Given the description of an element on the screen output the (x, y) to click on. 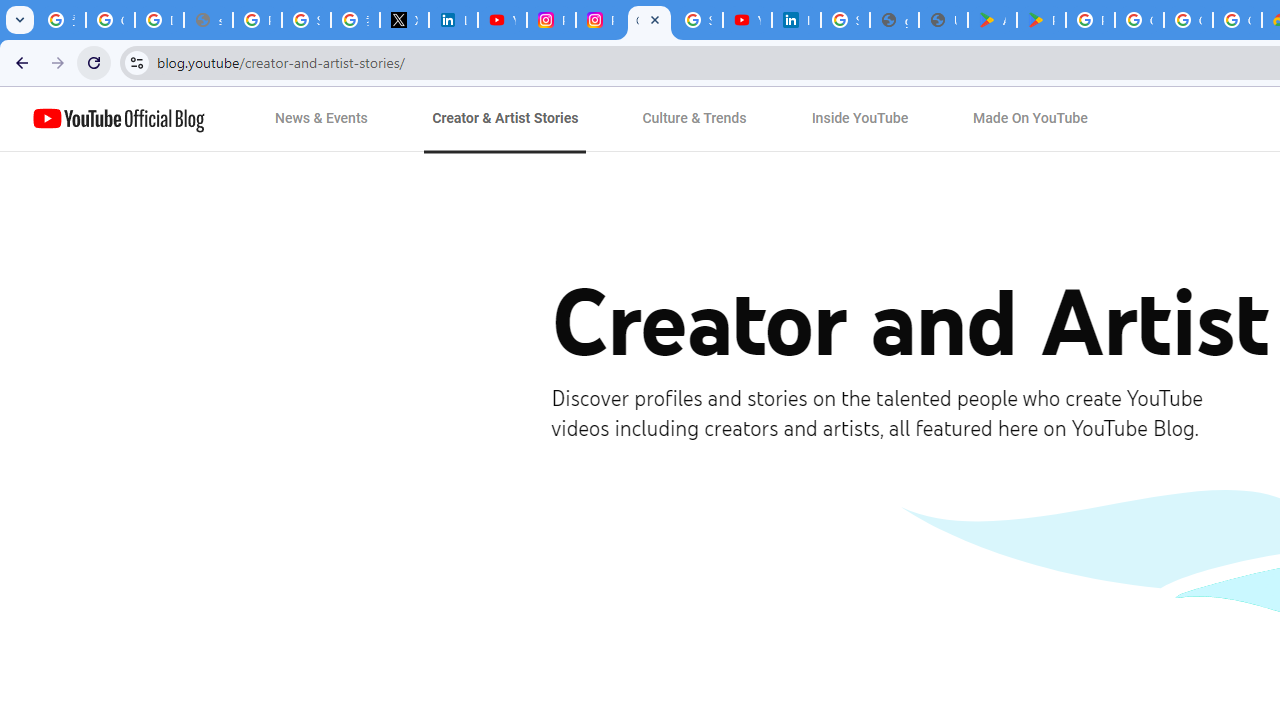
LinkedIn Privacy Policy (452, 20)
Culture & Trends (694, 119)
Android Apps on Google Play (992, 20)
support.google.com - Network error (208, 20)
